Given the description of an element on the screen output the (x, y) to click on. 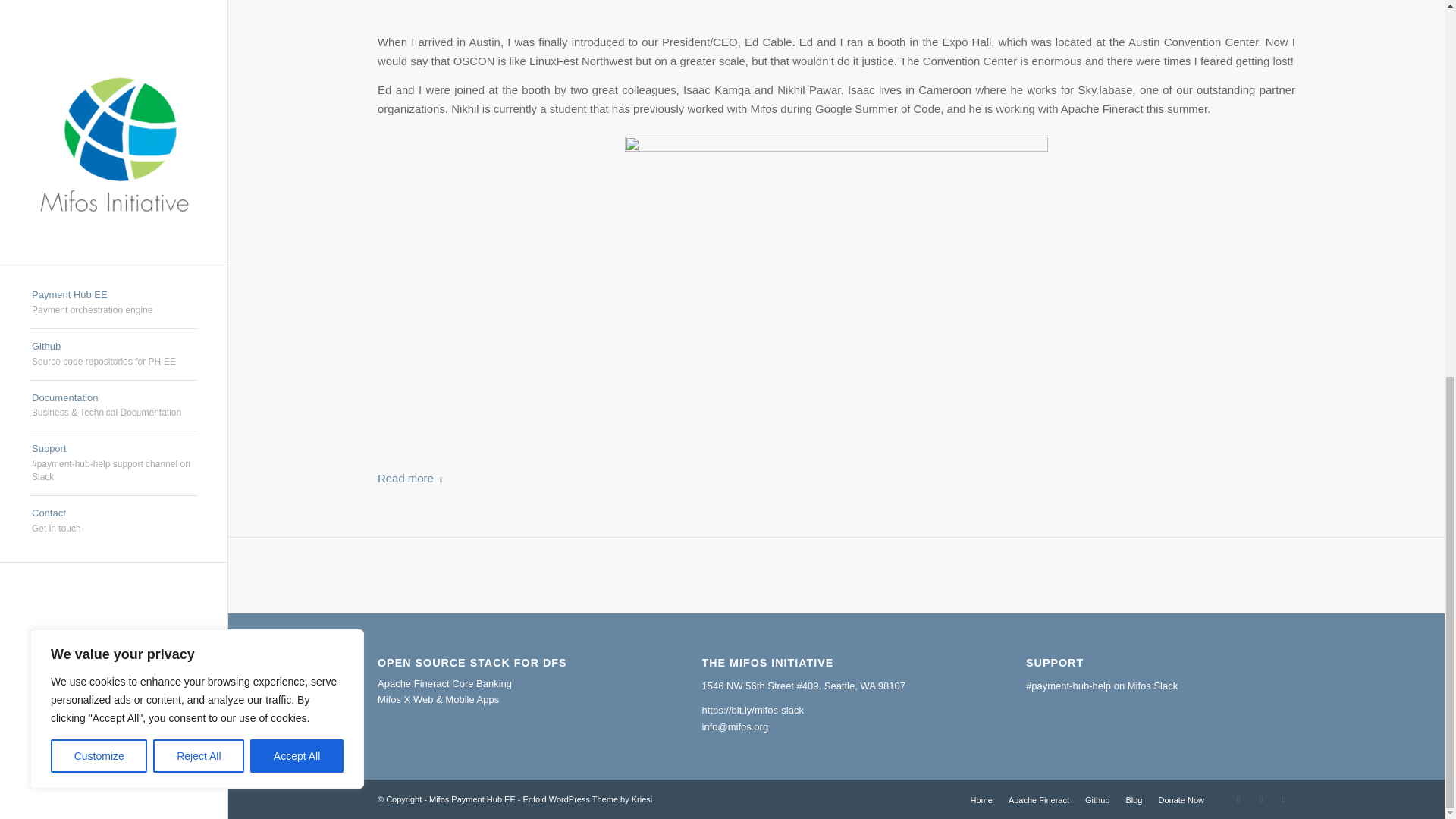
Read more (412, 478)
Apache Fineract Core Banking (444, 683)
Enfold WordPress Theme by Kriesi (587, 798)
Mail (1238, 798)
LinkedIn (1260, 798)
Reject All (198, 61)
Mifos Payment Hub EE (472, 798)
Home (981, 799)
Accept All (296, 61)
Customize (98, 61)
